Given the description of an element on the screen output the (x, y) to click on. 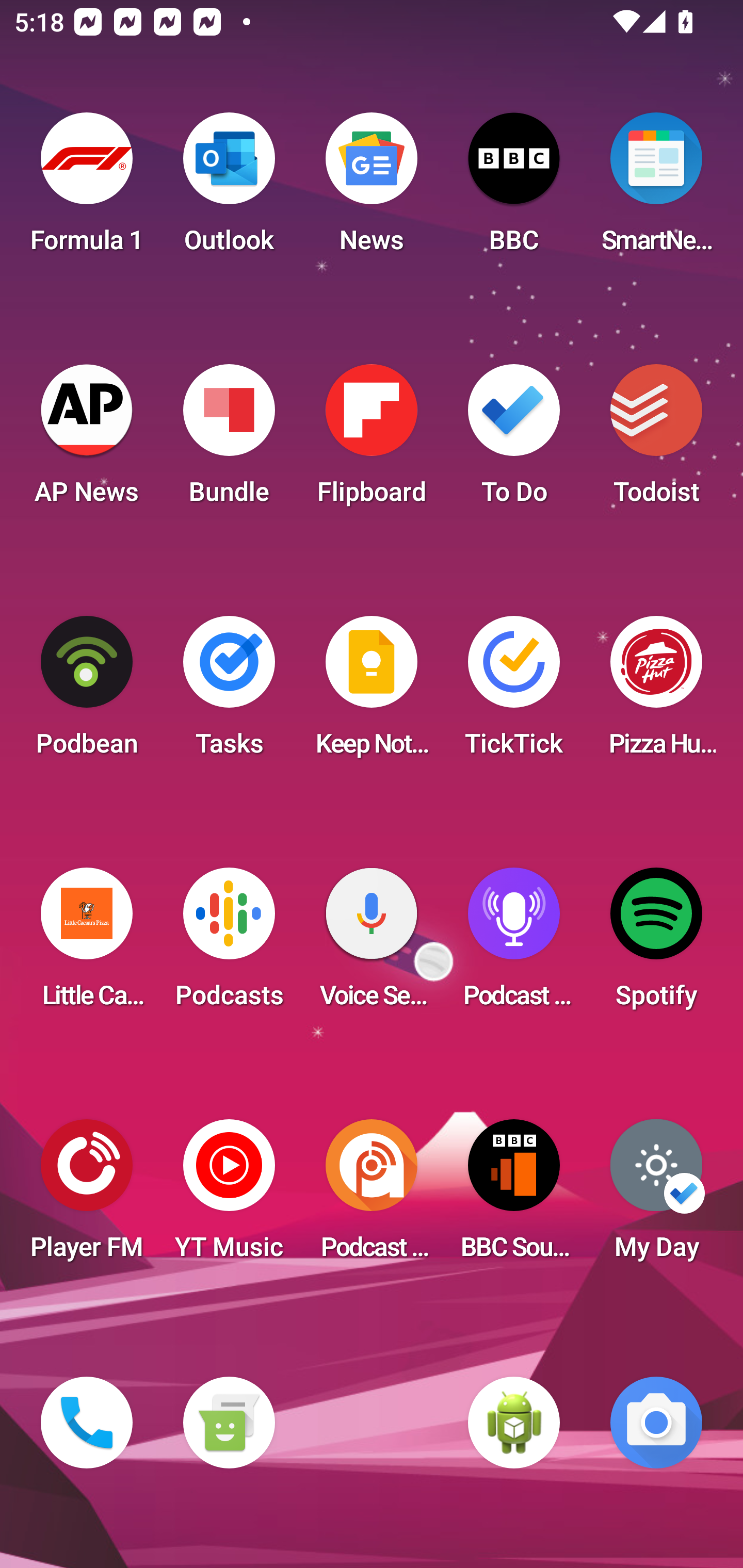
Formula 1 (86, 188)
Outlook (228, 188)
News (371, 188)
BBC (513, 188)
SmartNews (656, 188)
AP News (86, 440)
Bundle (228, 440)
Flipboard (371, 440)
To Do (513, 440)
Todoist (656, 440)
Podbean (86, 692)
Tasks (228, 692)
Keep Notes (371, 692)
TickTick (513, 692)
Pizza Hut HK & Macau (656, 692)
Little Caesars Pizza (86, 943)
Podcasts (228, 943)
Voice Search (371, 943)
Podcast Player (513, 943)
Spotify (656, 943)
Player FM (86, 1195)
YT Music (228, 1195)
Podcast Addict (371, 1195)
BBC Sounds (513, 1195)
My Day (656, 1195)
Phone (86, 1422)
Messaging (228, 1422)
WebView Browser Tester (513, 1422)
Camera (656, 1422)
